Given the description of an element on the screen output the (x, y) to click on. 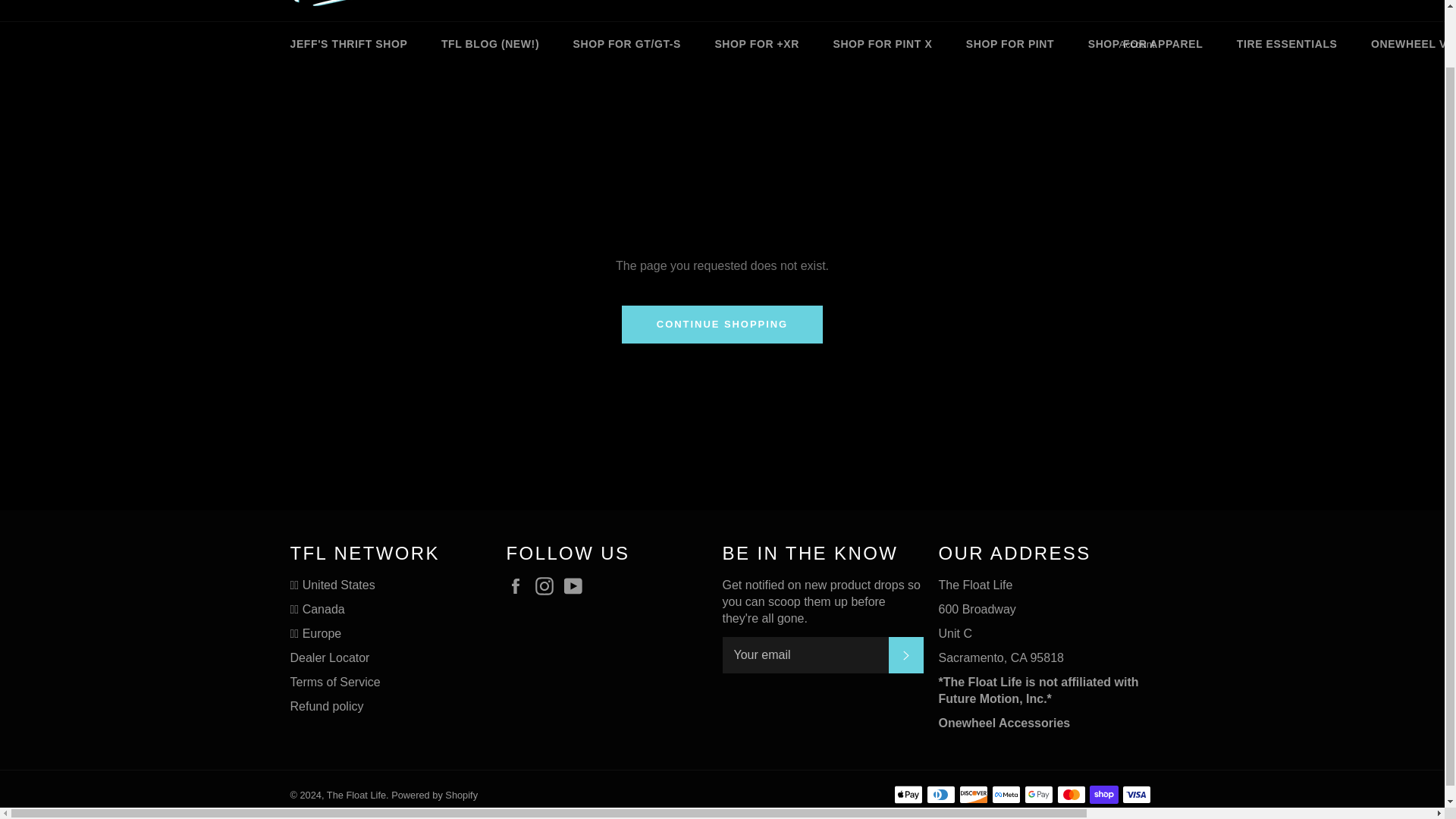
JEFF'S THRIFT SHOP (348, 44)
The Float Life on Facebook (519, 586)
Account (1136, 44)
SHOP FOR APPAREL (1145, 44)
The Float Life on YouTube (576, 586)
ONEWHEEL VIDEOS (1405, 44)
The Float Life on Instagram (547, 586)
SHOP FOR PINT (1009, 44)
SHOP FOR PINT X (881, 44)
TIRE ESSENTIALS (1286, 44)
